Given the description of an element on the screen output the (x, y) to click on. 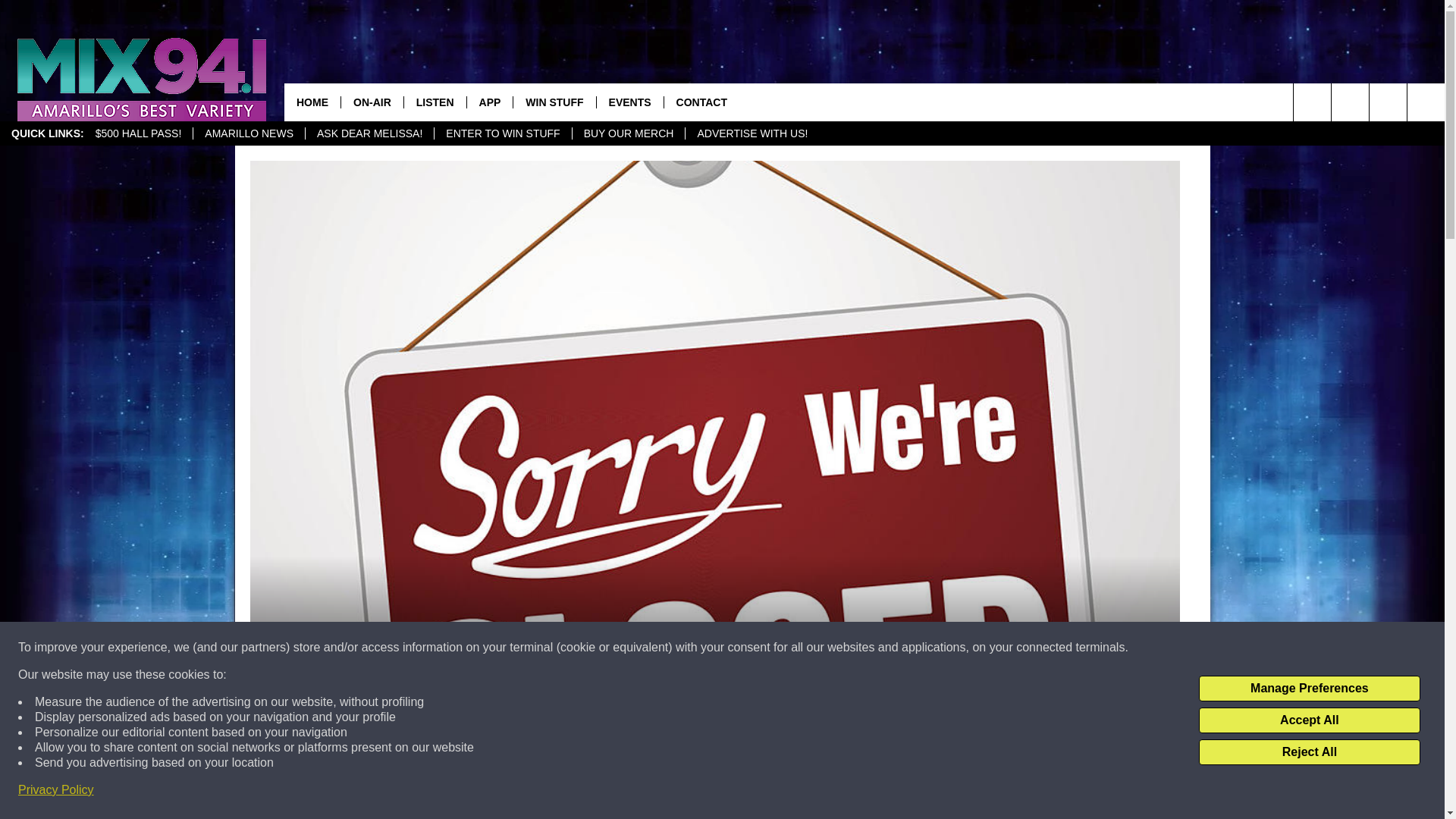
ASK DEAR MELISSA! (368, 133)
Accept All (1309, 720)
AMARILLO NEWS (248, 133)
Manage Preferences (1309, 688)
BUY OUR MERCH (628, 133)
WIN STUFF (553, 102)
EVENTS (629, 102)
LISTEN (434, 102)
Reject All (1309, 751)
ADVERTISE WITH US! (751, 133)
Share on Twitter (912, 791)
Privacy Policy (55, 789)
APP (489, 102)
ENTER TO WIN STUFF (501, 133)
Share on Facebook (517, 791)
